Given the description of an element on the screen output the (x, y) to click on. 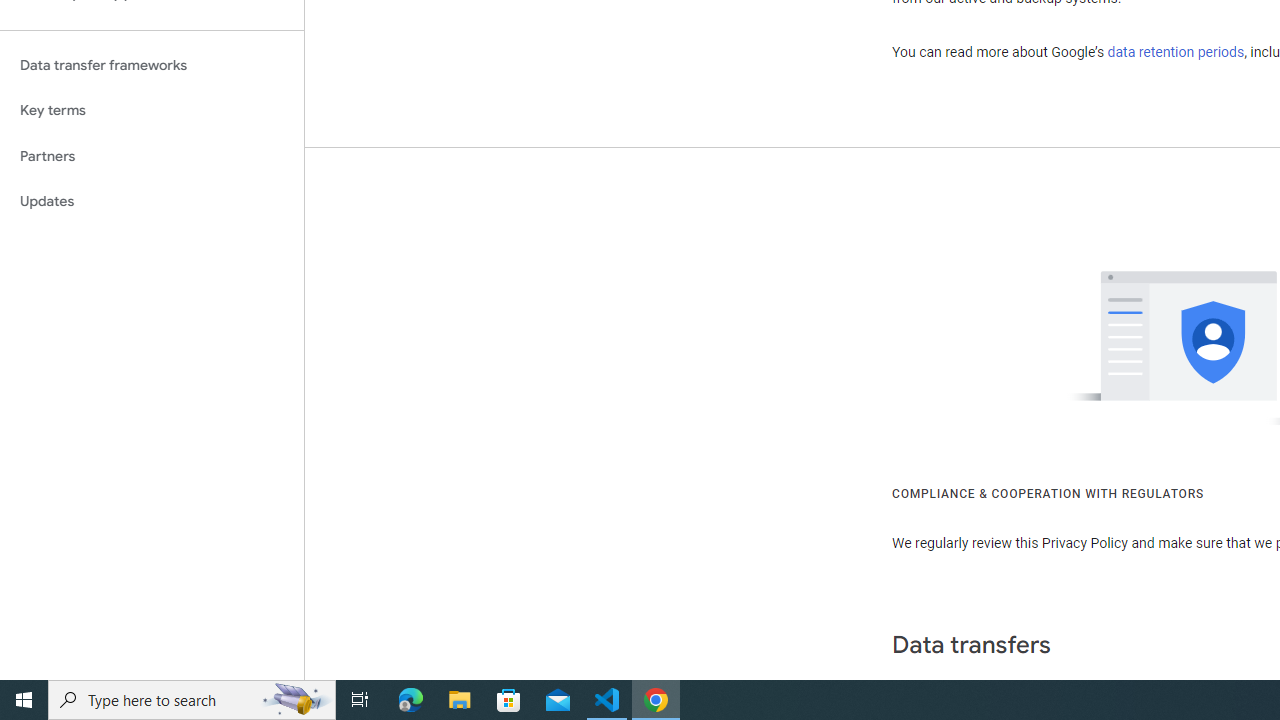
Data transfer frameworks (152, 65)
data retention periods (1176, 52)
Partners (152, 156)
Key terms (152, 110)
